Given the description of an element on the screen output the (x, y) to click on. 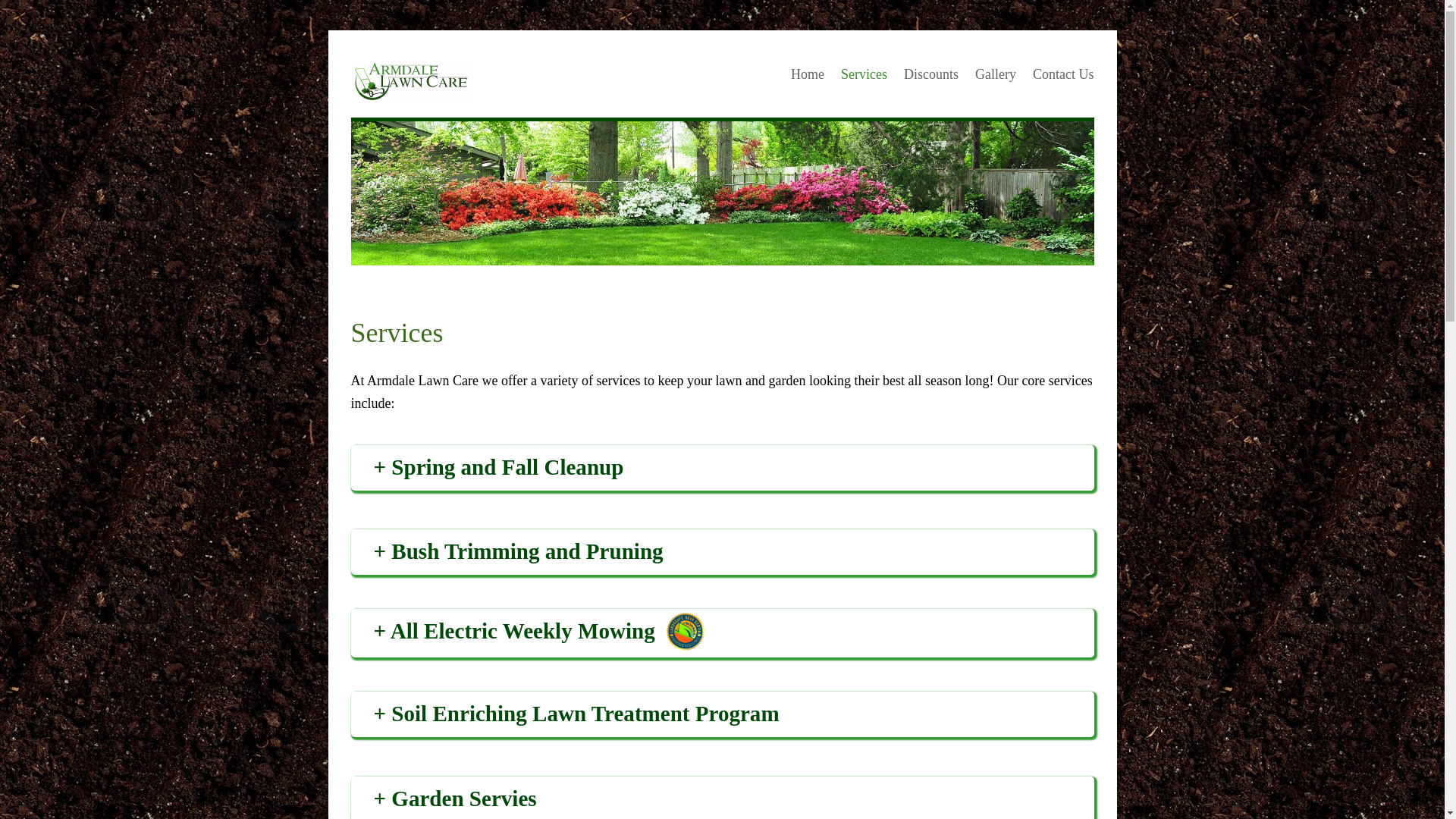
+ Bush Trimming and Pruning Element type: text (733, 551)
Home Element type: text (807, 73)
Gallery Element type: text (995, 73)
Discounts Element type: text (930, 73)
Services Element type: text (863, 73)
+ All Electric Weekly Mowing Element type: text (513, 631)
header photo armdale v1 Element type: hover (721, 193)
Contact Us Element type: text (1063, 73)
+ Soil Enriching Lawn Treatment Program Element type: text (733, 714)
+ Spring and Fall Cleanup Element type: text (733, 467)
